Given the description of an element on the screen output the (x, y) to click on. 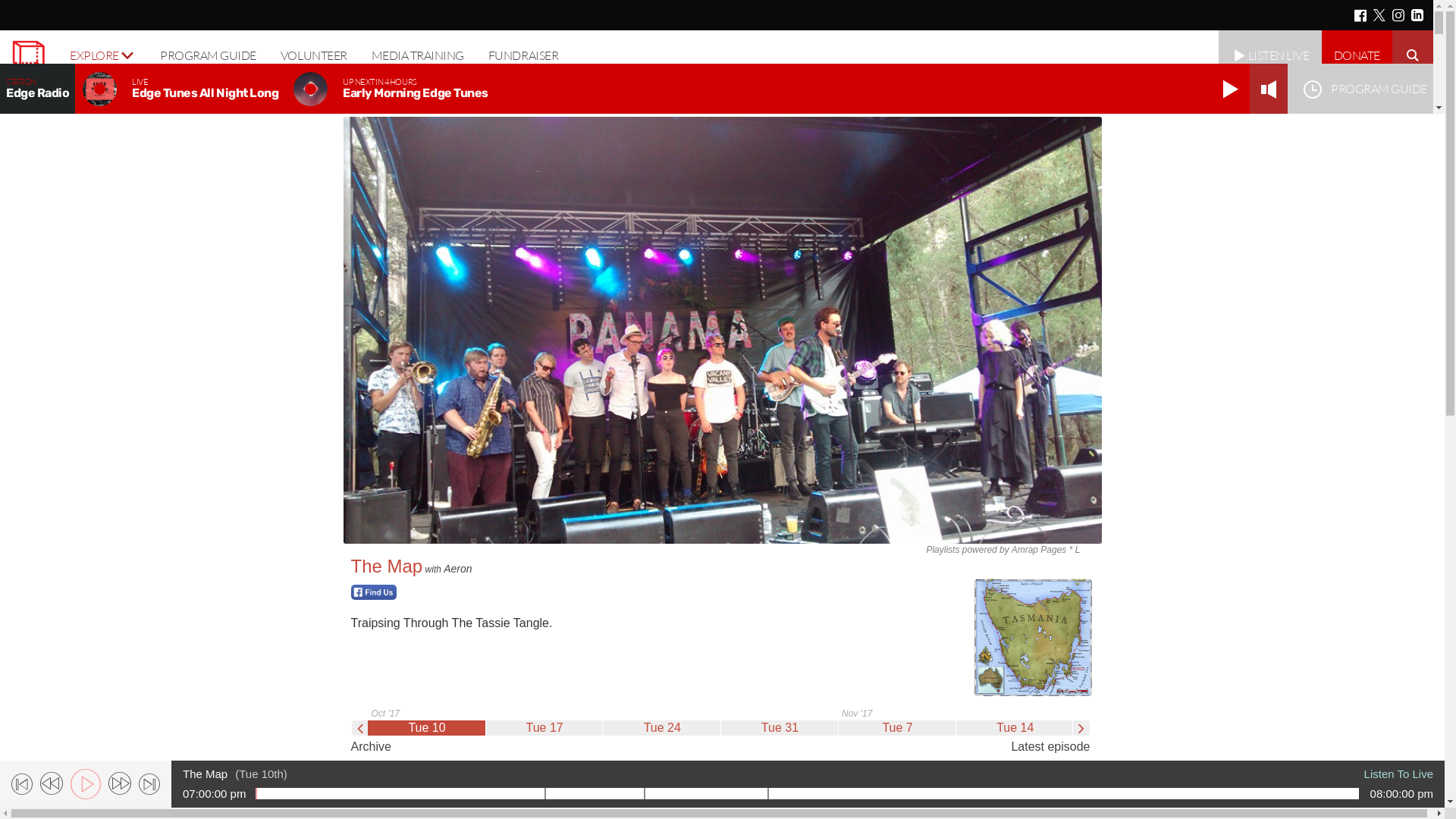
Latest episode Element type: text (1049, 746)
Archive Element type: text (370, 746)
L Element type: text (1077, 549)
